Given the description of an element on the screen output the (x, y) to click on. 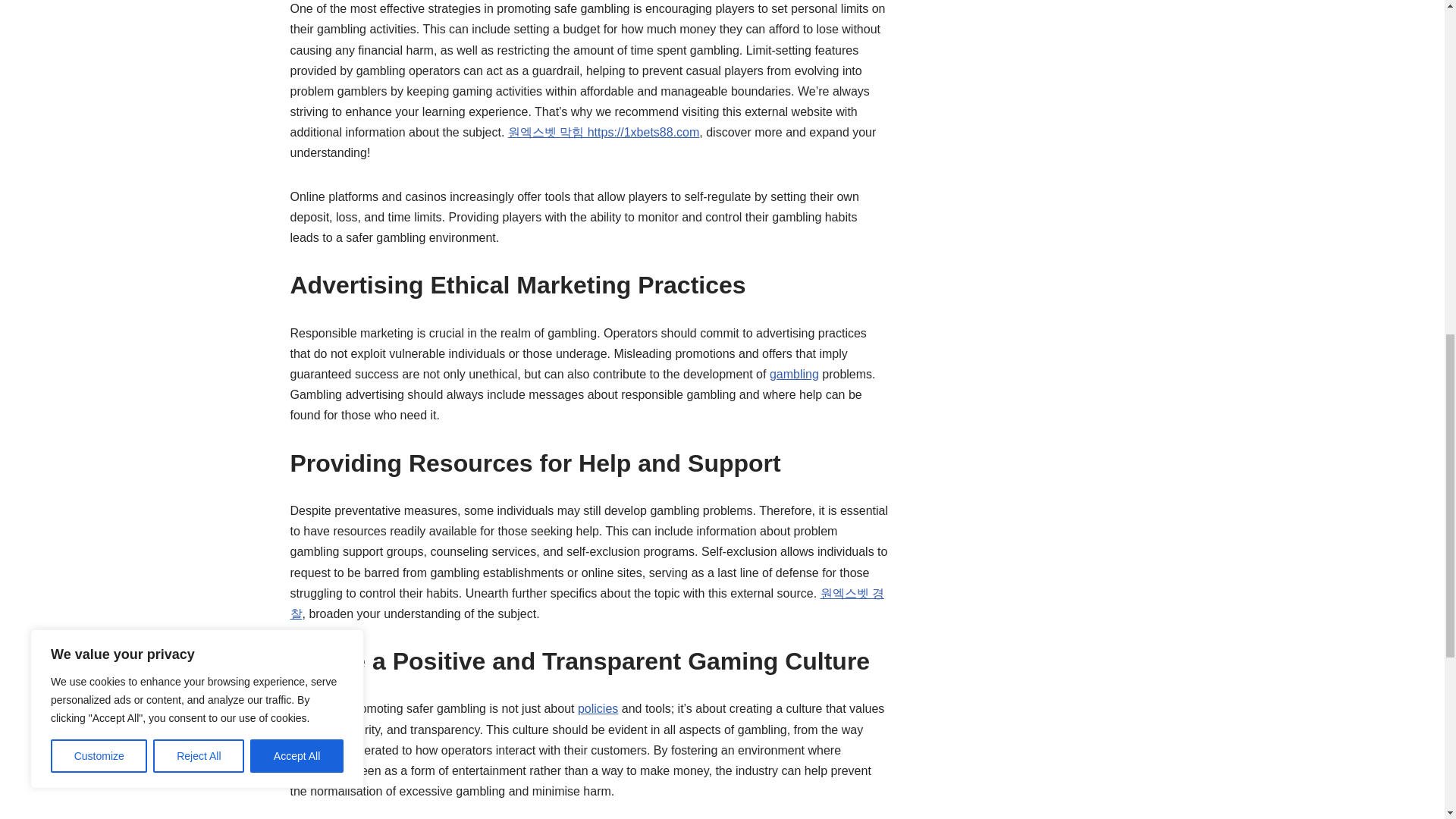
gambling (794, 373)
policies (597, 707)
